Given the description of an element on the screen output the (x, y) to click on. 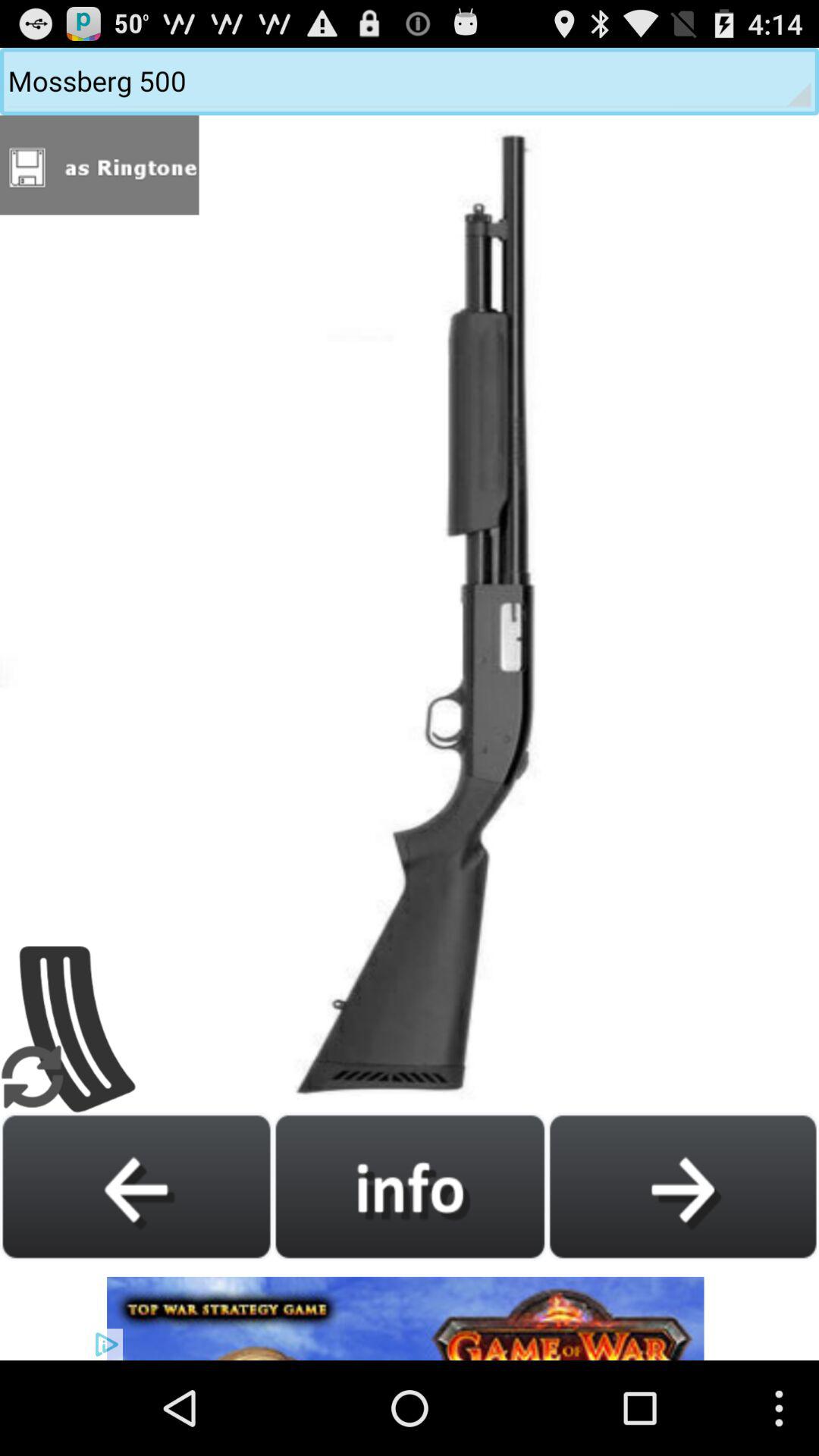
open advertisement (409, 1310)
